Given the description of an element on the screen output the (x, y) to click on. 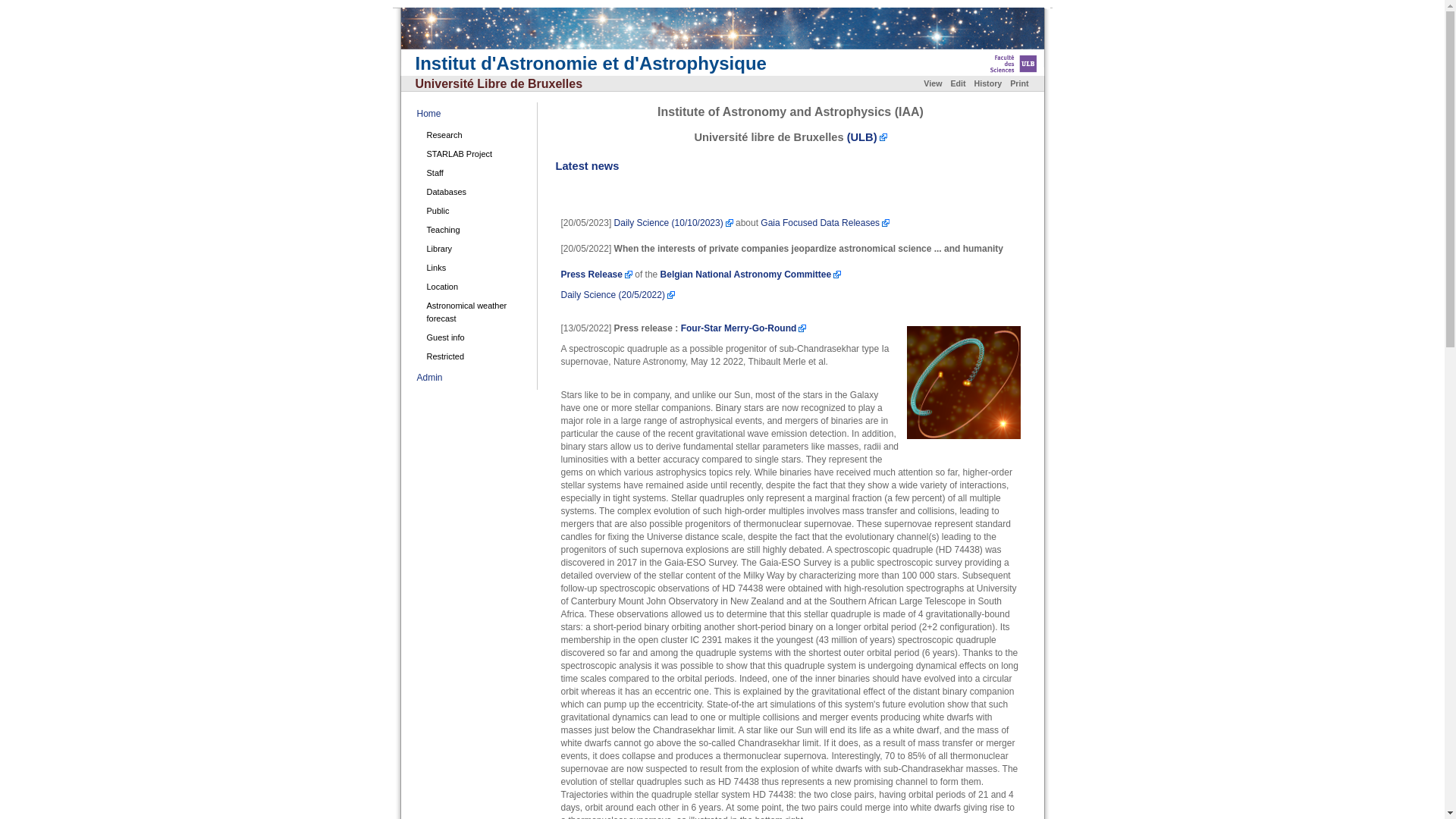
Admin Element type: text (429, 377)
Daily Science (20/5/2022) Element type: text (617, 294)
(ULB) Element type: text (867, 137)
Daily Science (10/10/2023) Element type: text (673, 222)
Library Element type: text (475, 248)
Belgian National Astronomy Committee Element type: text (750, 274)
Gaia Focused Data Releases Element type: text (824, 222)
Home Element type: text (429, 113)
History Element type: text (988, 82)
STARLAB Project Element type: text (475, 153)
Print Element type: text (1019, 82)
Astronomical weather forecast Element type: text (475, 312)
Location Element type: text (475, 286)
Guest info Element type: text (475, 337)
Press Release Element type: text (596, 274)
Latest news Element type: text (586, 166)
Links Element type: text (475, 267)
Four-Star Merry-Go-Round Element type: text (743, 328)
Edit Element type: text (957, 82)
Databases Element type: text (475, 191)
Institut d'Astronomie et d'Astrophysique Element type: text (590, 63)
View Element type: text (932, 82)
Restricted Element type: text (475, 356)
Staff Element type: text (475, 172)
Teaching Element type: text (475, 229)
Research Element type: text (475, 134)
